Given the description of an element on the screen output the (x, y) to click on. 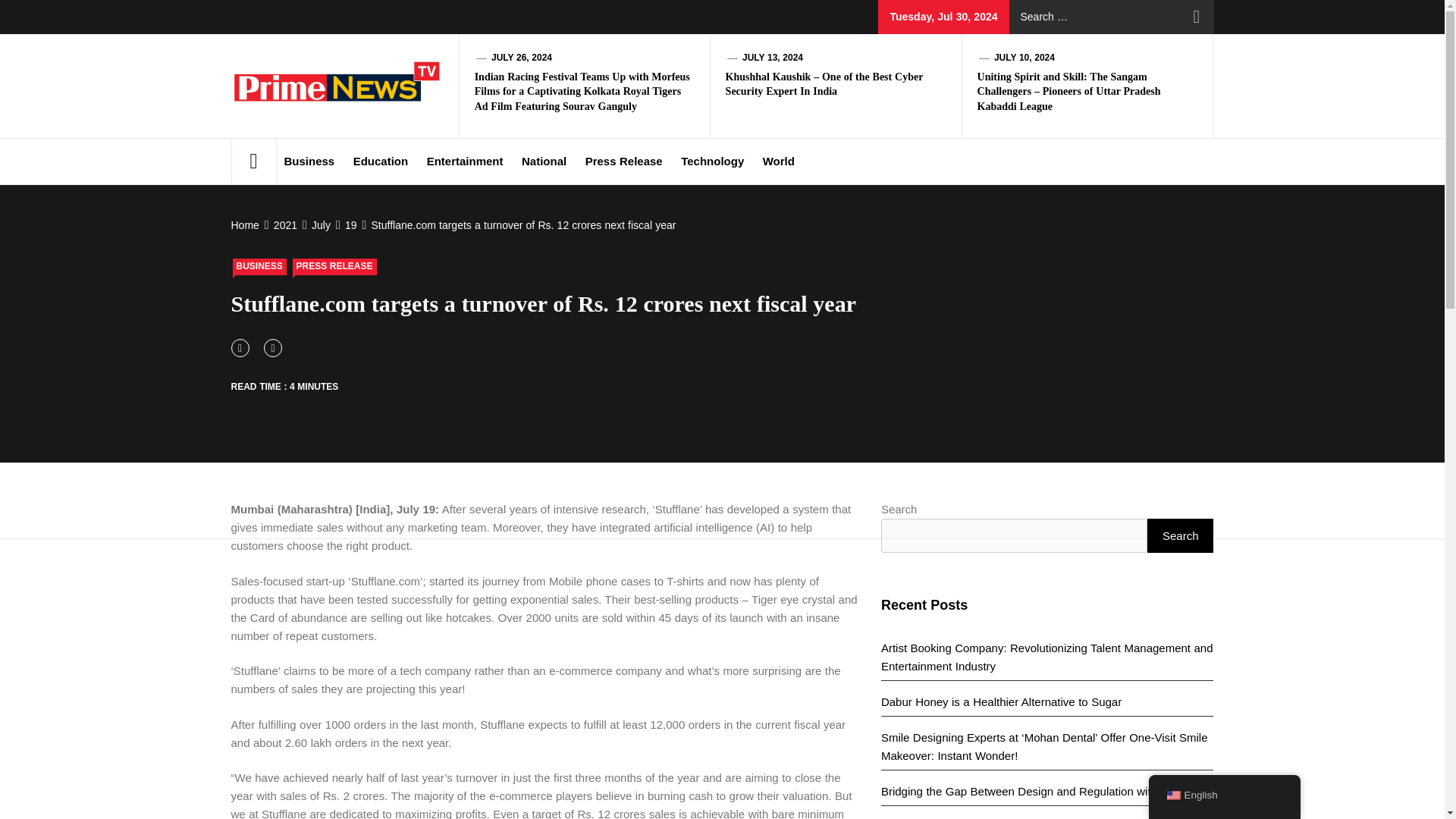
Search (1196, 17)
Entertainment (465, 161)
World (778, 161)
Search (1196, 17)
JULY 13, 2024 (772, 57)
19 (349, 224)
National (543, 161)
English (1172, 795)
Search (1196, 17)
2021 (283, 224)
Education (381, 161)
JULY 26, 2024 (521, 57)
BUSINESS (258, 266)
